Given the description of an element on the screen output the (x, y) to click on. 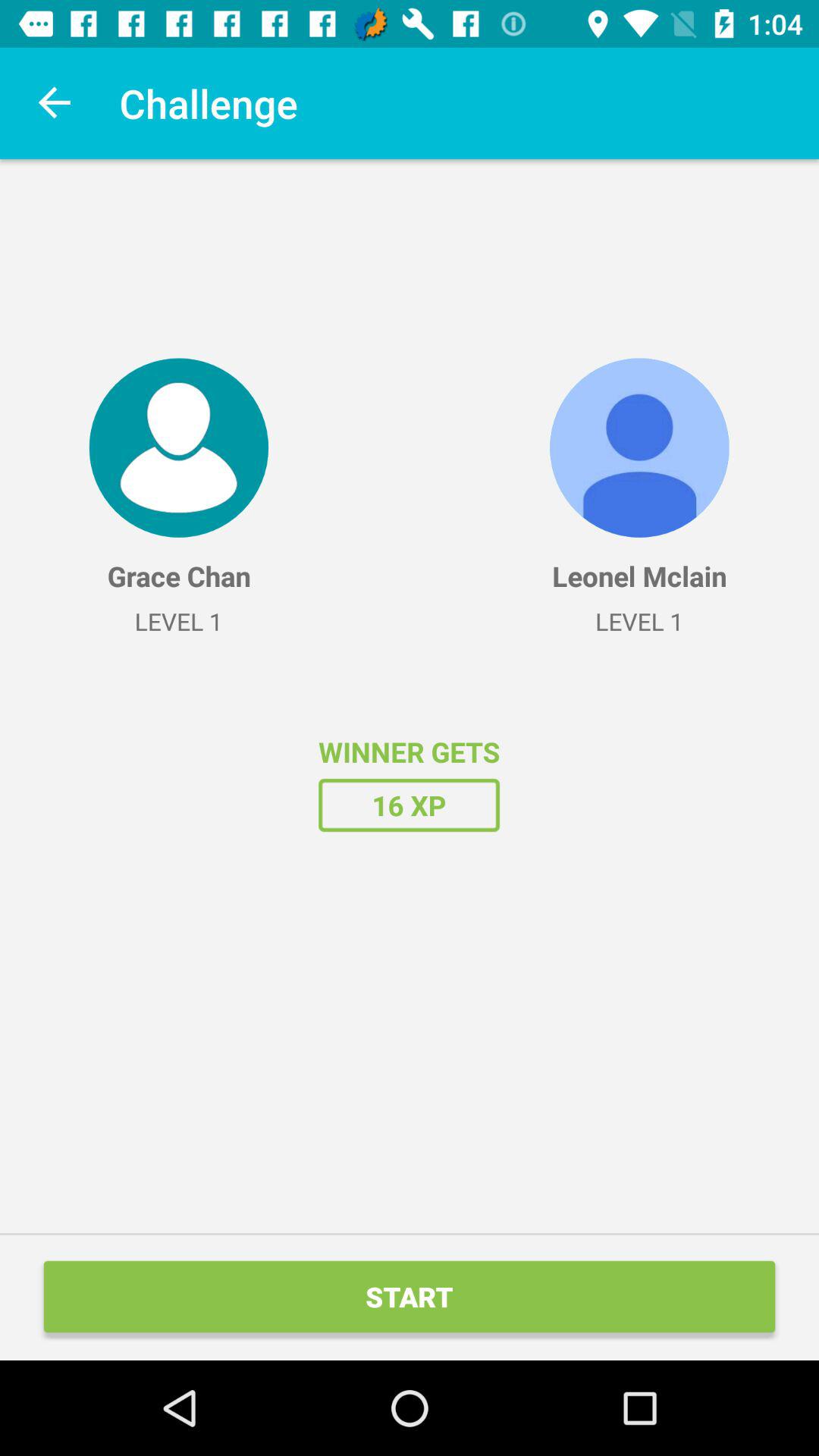
view profile (178, 447)
